Given the description of an element on the screen output the (x, y) to click on. 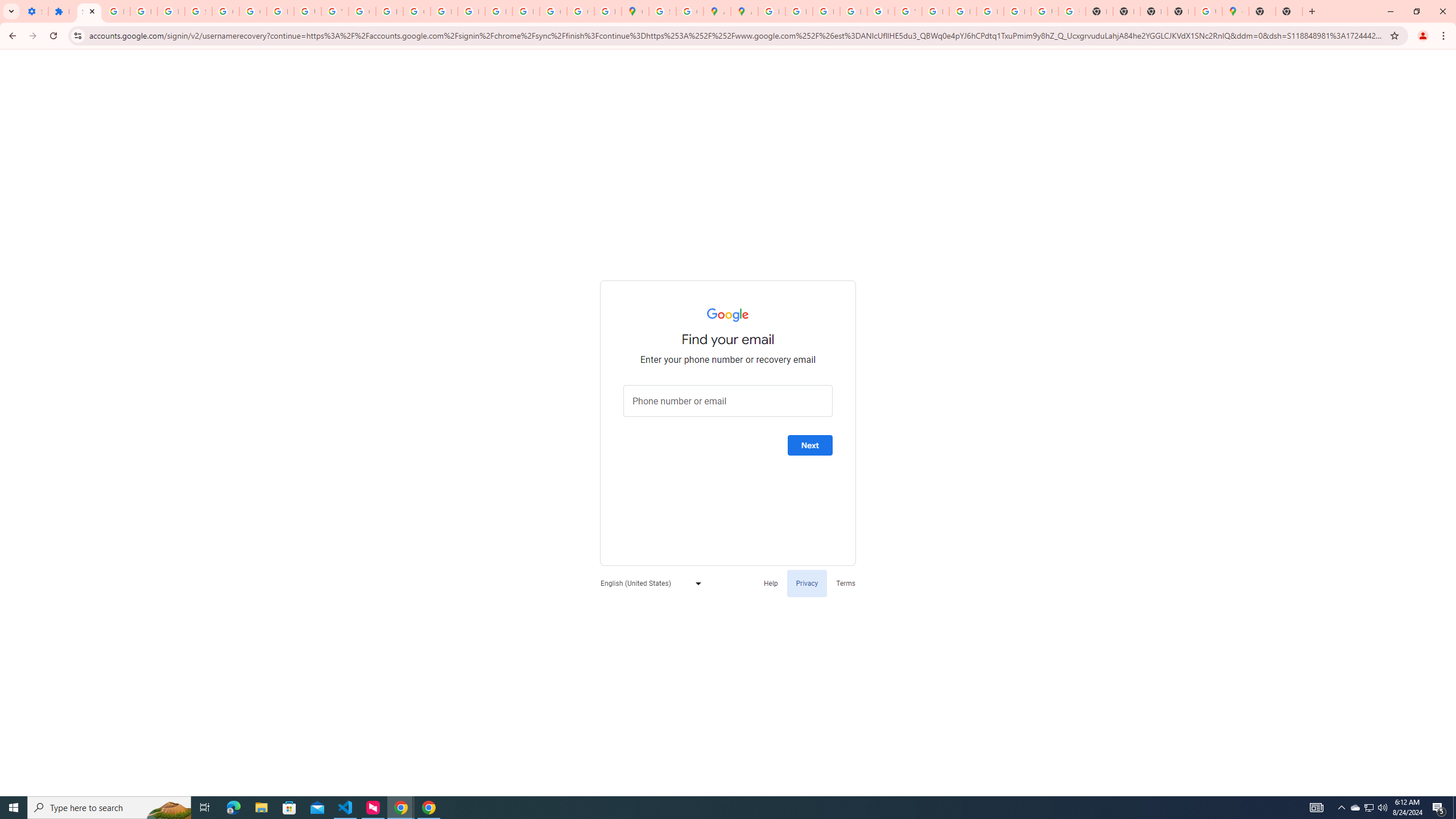
Use Google Maps in Space - Google Maps Help (1208, 11)
Sign in - Google Accounts (662, 11)
Policy Accountability and Transparency - Transparency Center (771, 11)
YouTube (334, 11)
Sign in - Google Accounts (197, 11)
Create your Google Account (690, 11)
Browse Chrome as a guest - Computer - Google Chrome Help (990, 11)
Learn how to find your photos - Google Photos Help (144, 11)
